Given the description of an element on the screen output the (x, y) to click on. 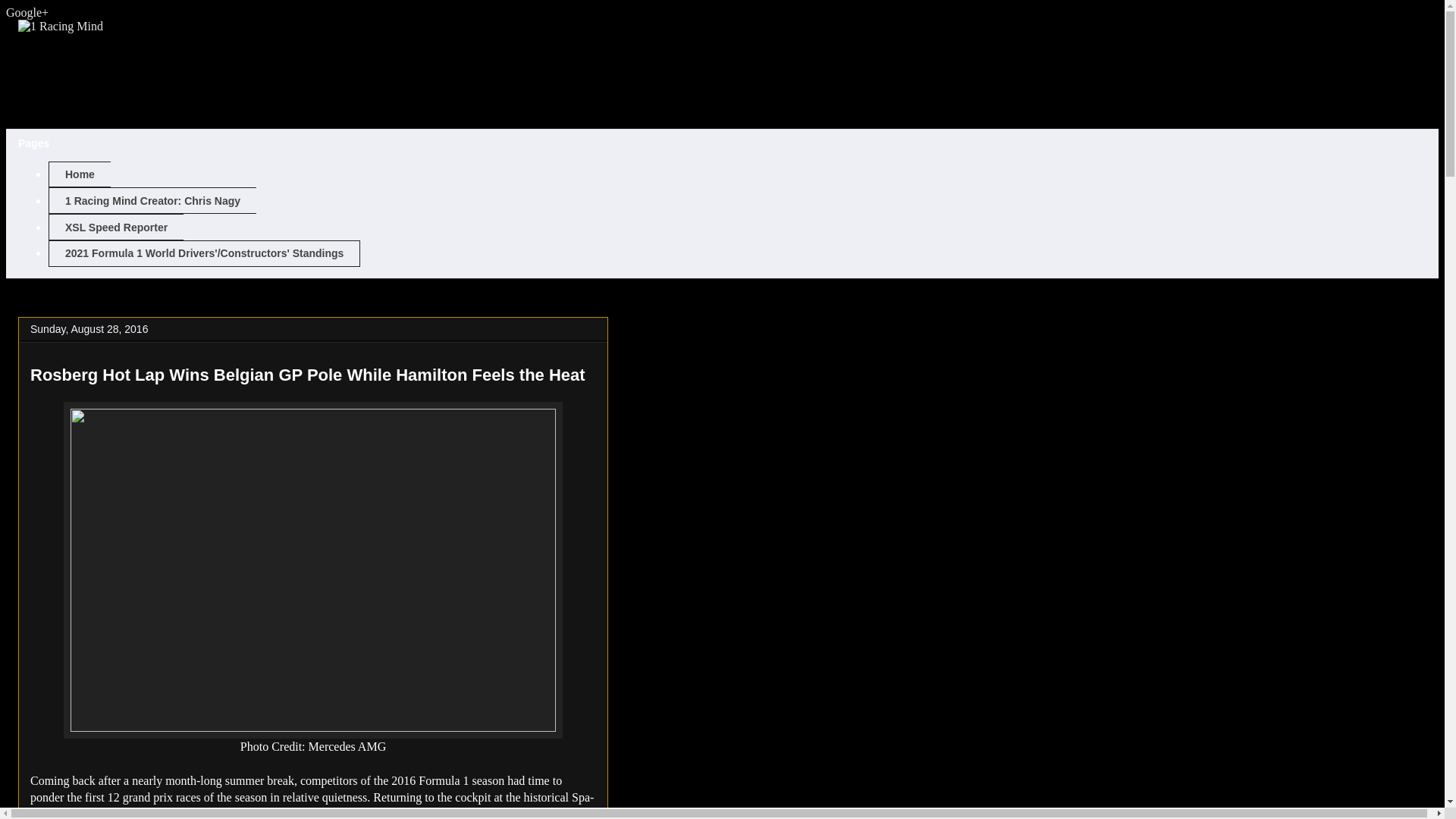
Google+ Element type: text (27, 12)
2021 Formula 1 World Drivers'/Constructors' Standings Element type: text (204, 253)
1 Racing Mind Creator: Chris Nagy Element type: text (152, 200)
Home Element type: text (79, 174)
XSL Speed Reporter Element type: text (115, 226)
